Given the description of an element on the screen output the (x, y) to click on. 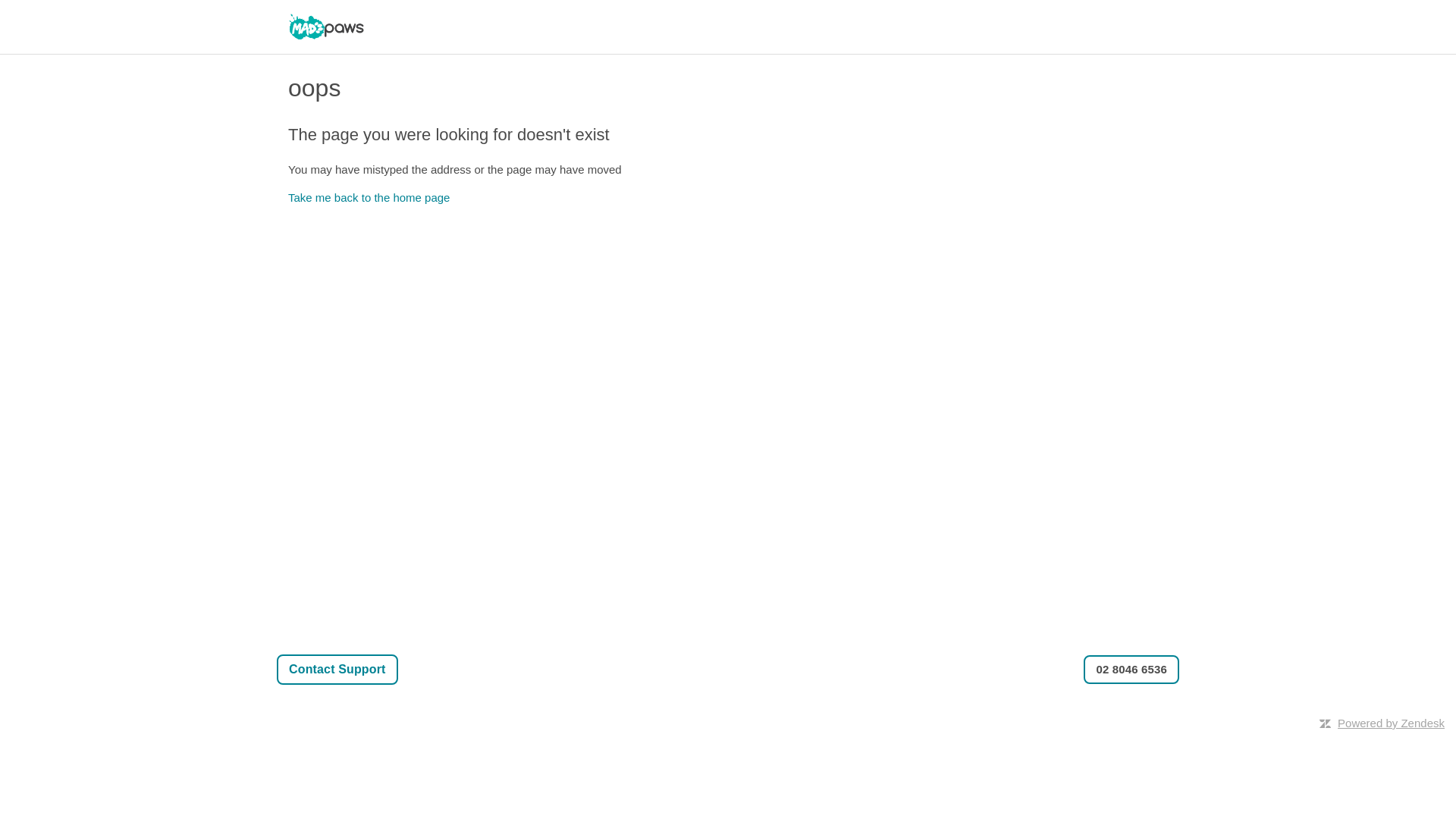
Powered by Zendesk Element type: text (1390, 722)
Contact Support Element type: text (337, 669)
Take me back to the home page Element type: text (368, 197)
